Given the description of an element on the screen output the (x, y) to click on. 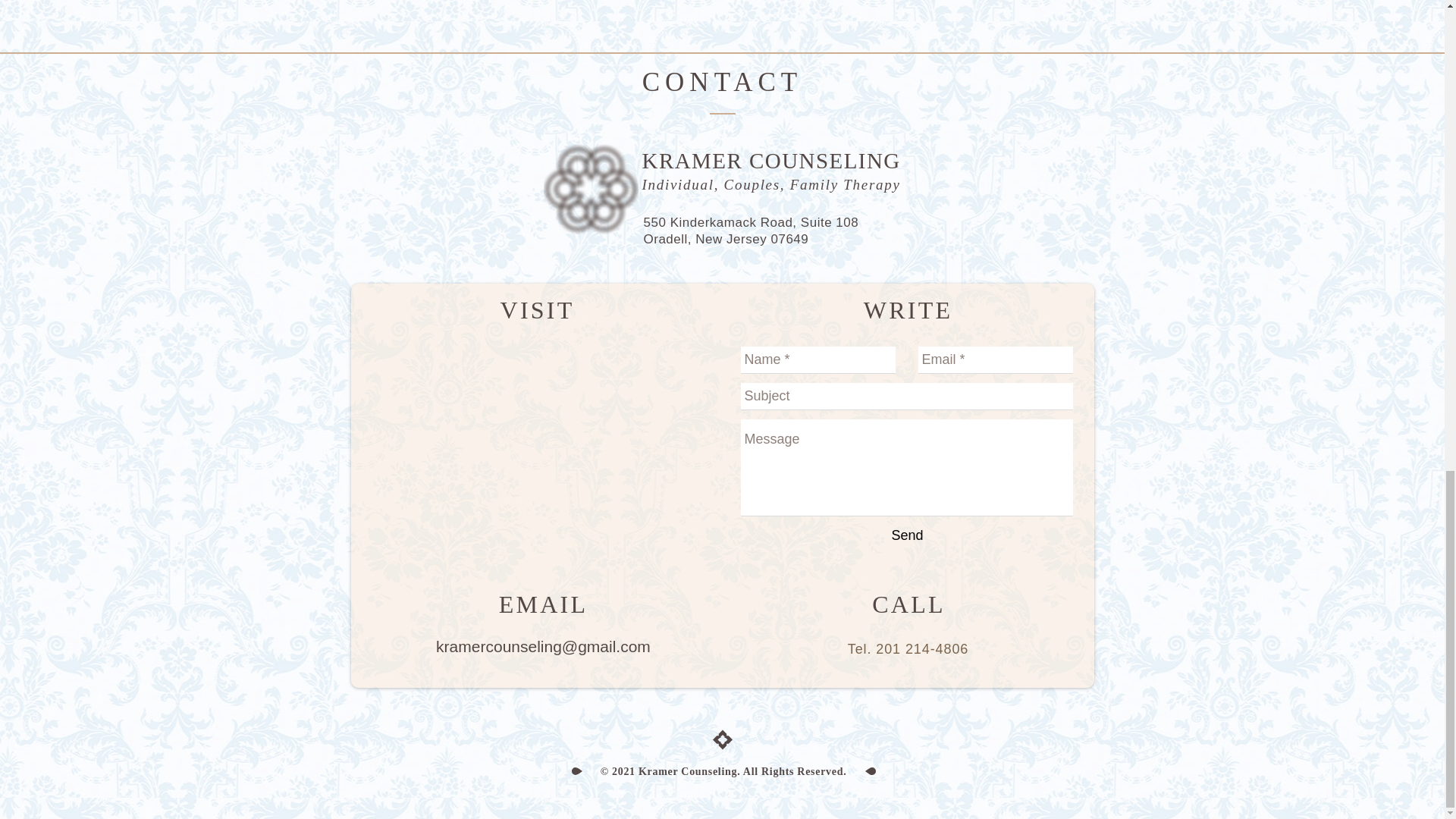
KRAMER COUNSELING (770, 160)
Send (907, 535)
Individual, Couples, Family Therapy (770, 184)
